Given the description of an element on the screen output the (x, y) to click on. 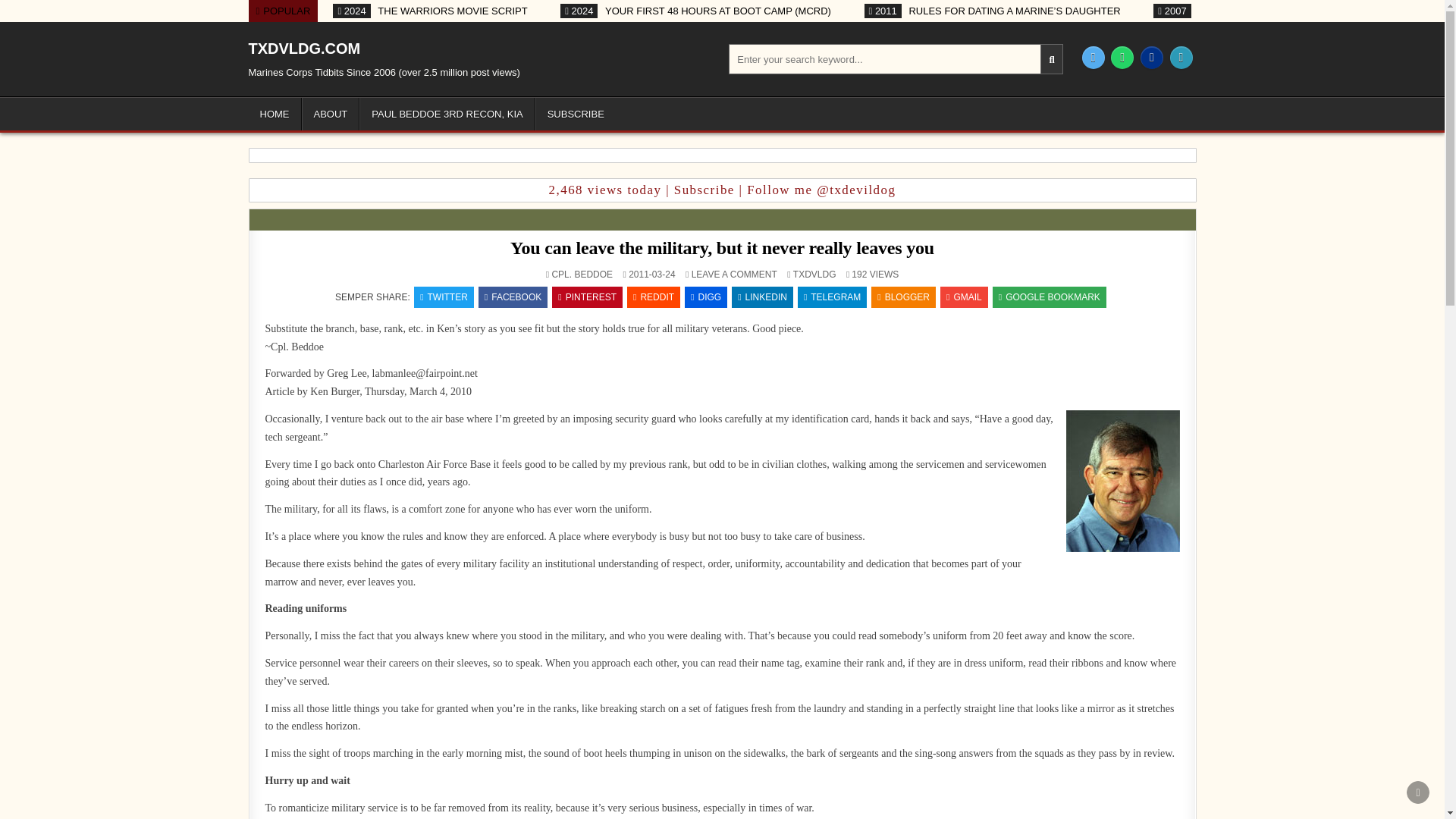
CPL. BEDDOE (581, 274)
FACEBOOK (513, 296)
Permanent Link to The Warriors Movie Script (430, 10)
PAUL BEDDOE 3RD RECON, KIA (446, 113)
GOOGLE BOOKMARK (1049, 296)
HOME (274, 113)
You can leave the military, but it never really leaves you (722, 247)
TXDVLDG (814, 274)
GMAIL (964, 296)
DIGG (705, 296)
PINTEREST (587, 296)
TXDVLDG.COM (304, 48)
SCROLL TO TOP (1417, 792)
BLOGGER (903, 296)
